Given the description of an element on the screen output the (x, y) to click on. 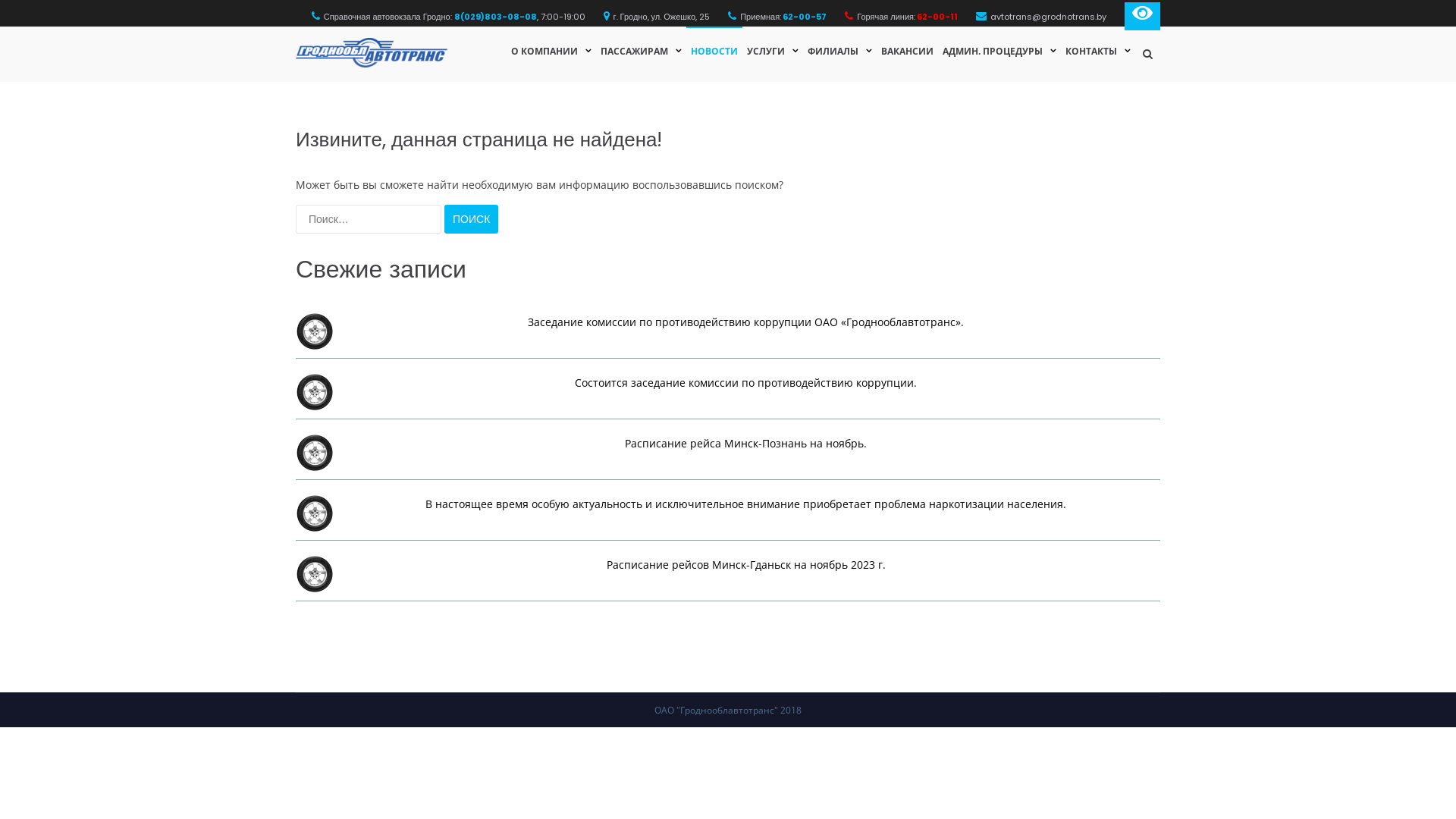
Skip to content Element type: text (0, 81)
